Given the description of an element on the screen output the (x, y) to click on. 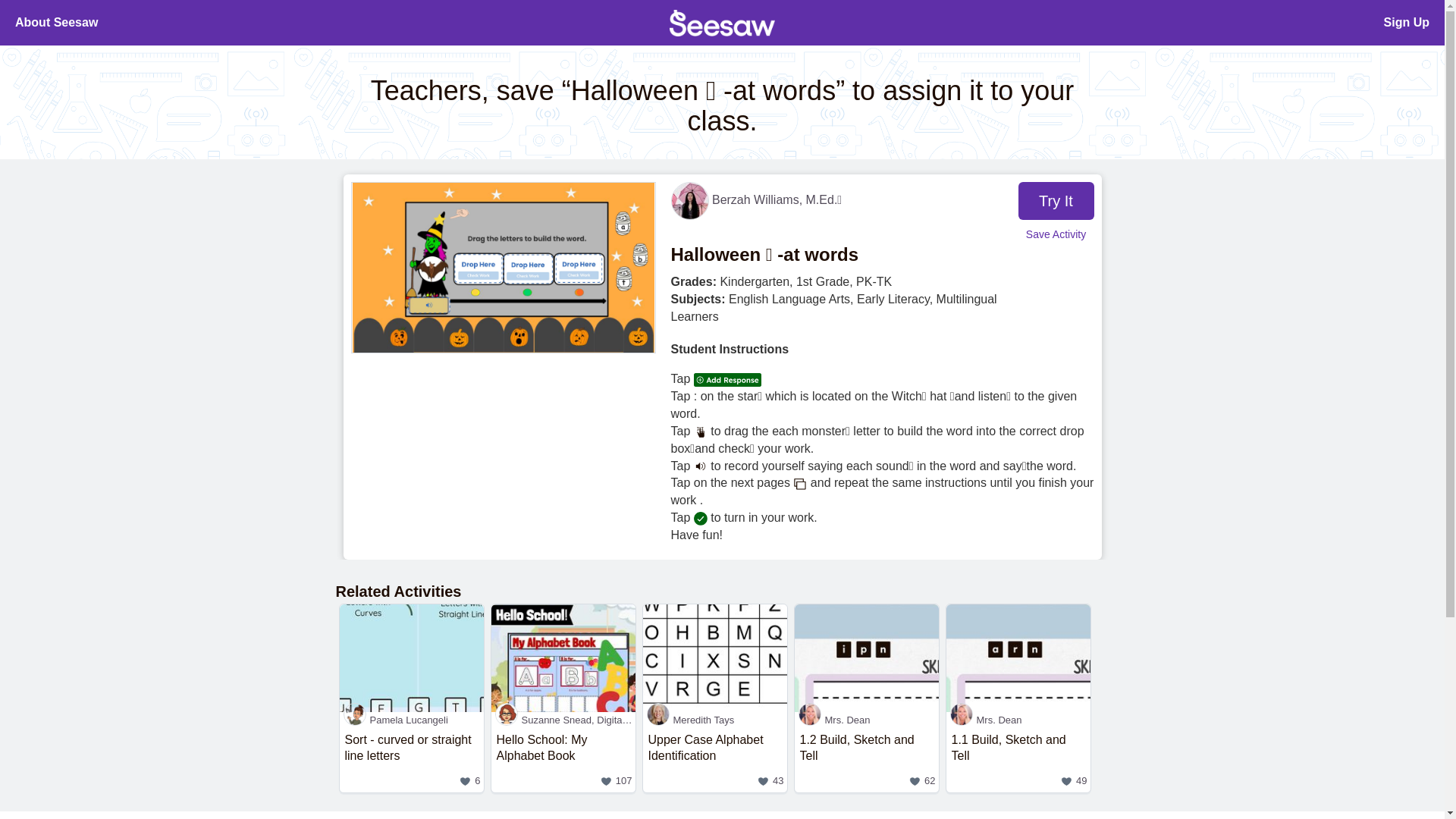
Sign Up (1406, 22)
About Seesaw (55, 22)
Suzanne Snead, Digital Learning Specialist (563, 719)
Try It (1055, 200)
Mrs. Dean (866, 759)
Save Activity (563, 759)
Meredith Tays (1018, 719)
